Given the description of an element on the screen output the (x, y) to click on. 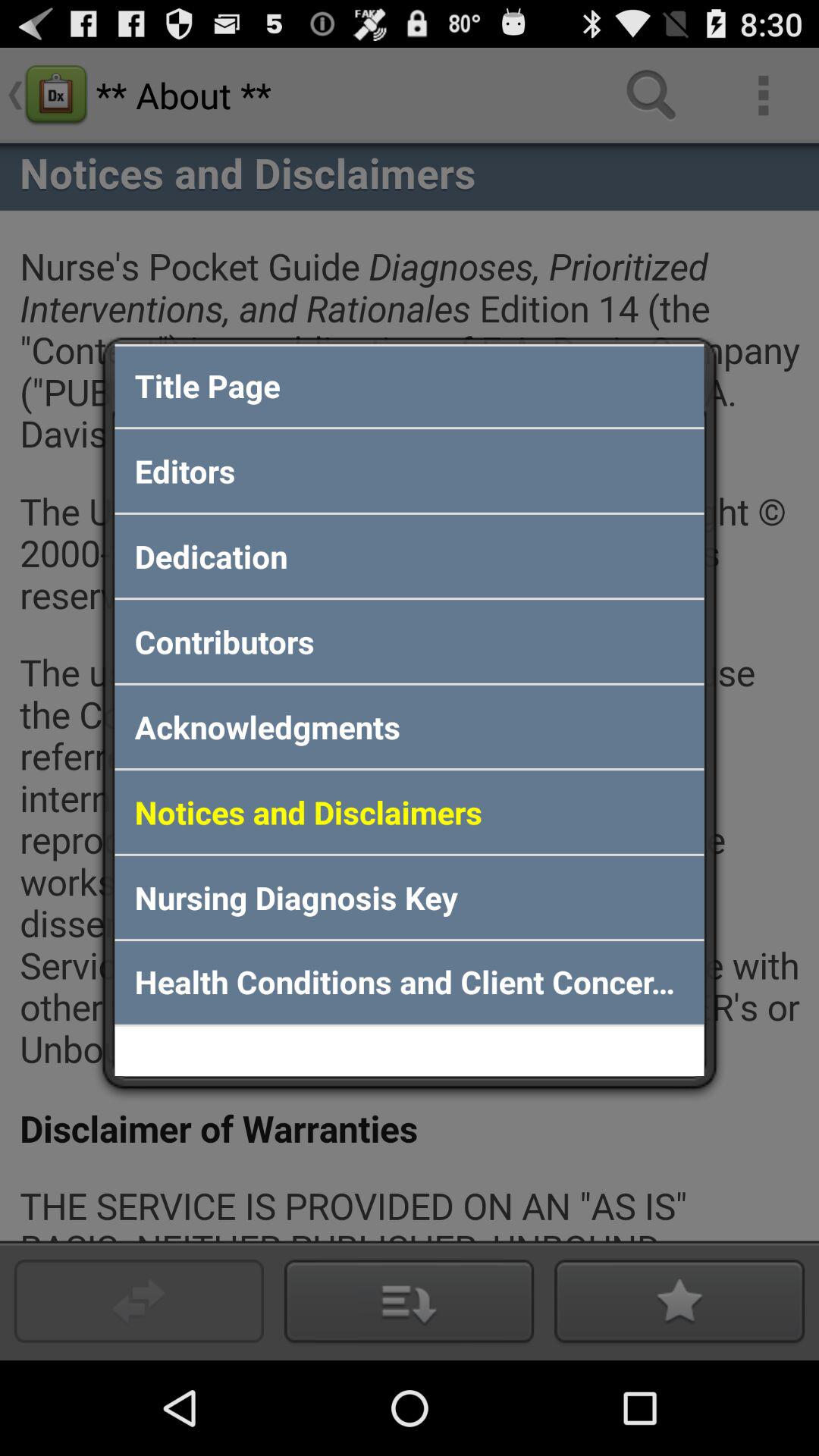
scroll to dedication (409, 555)
